Given the description of an element on the screen output the (x, y) to click on. 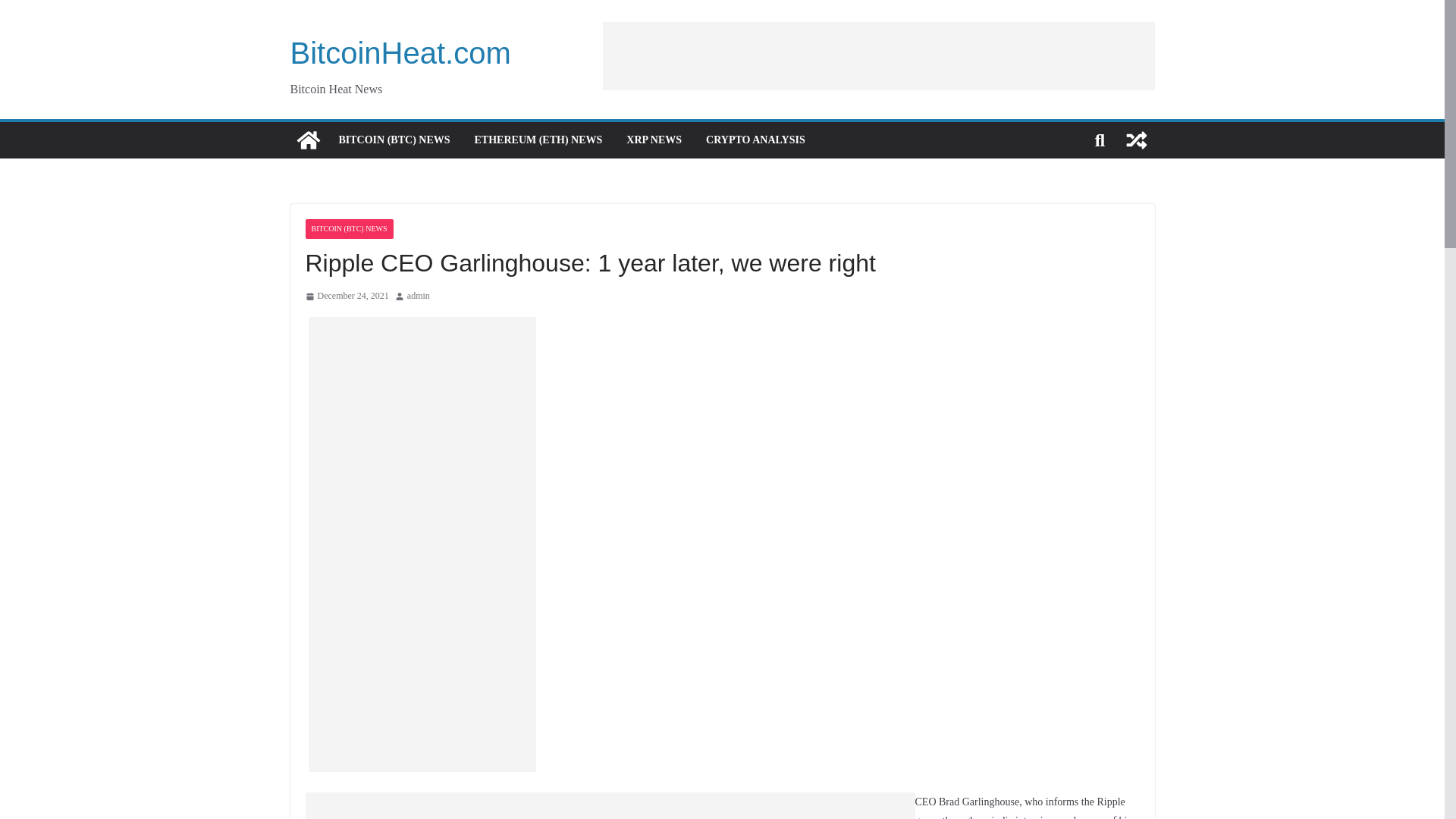
admin (418, 296)
Advertisement (878, 55)
BitcoinHeat.com (307, 140)
admin (418, 296)
BitcoinHeat.com (400, 52)
8:07 am (346, 296)
XRP NEWS (653, 139)
Advertisement (431, 805)
December 24, 2021 (346, 296)
CRYPTO ANALYSIS (755, 139)
